Given the description of an element on the screen output the (x, y) to click on. 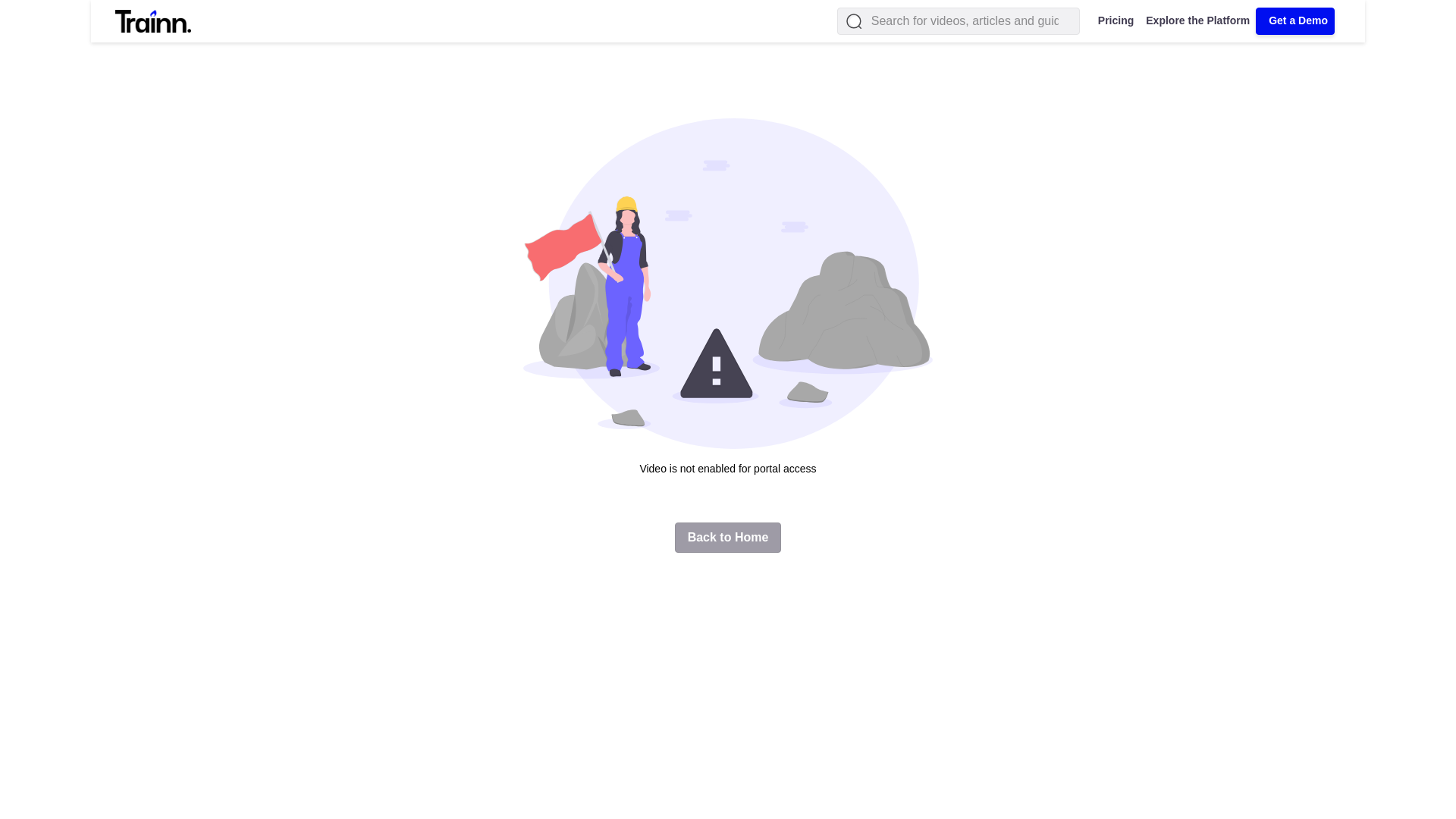
Pricing (1113, 20)
Back to Home (728, 535)
Get a Demo (1295, 21)
Back to Home (728, 537)
Explore the Platform (1194, 20)
